Given the description of an element on the screen output the (x, y) to click on. 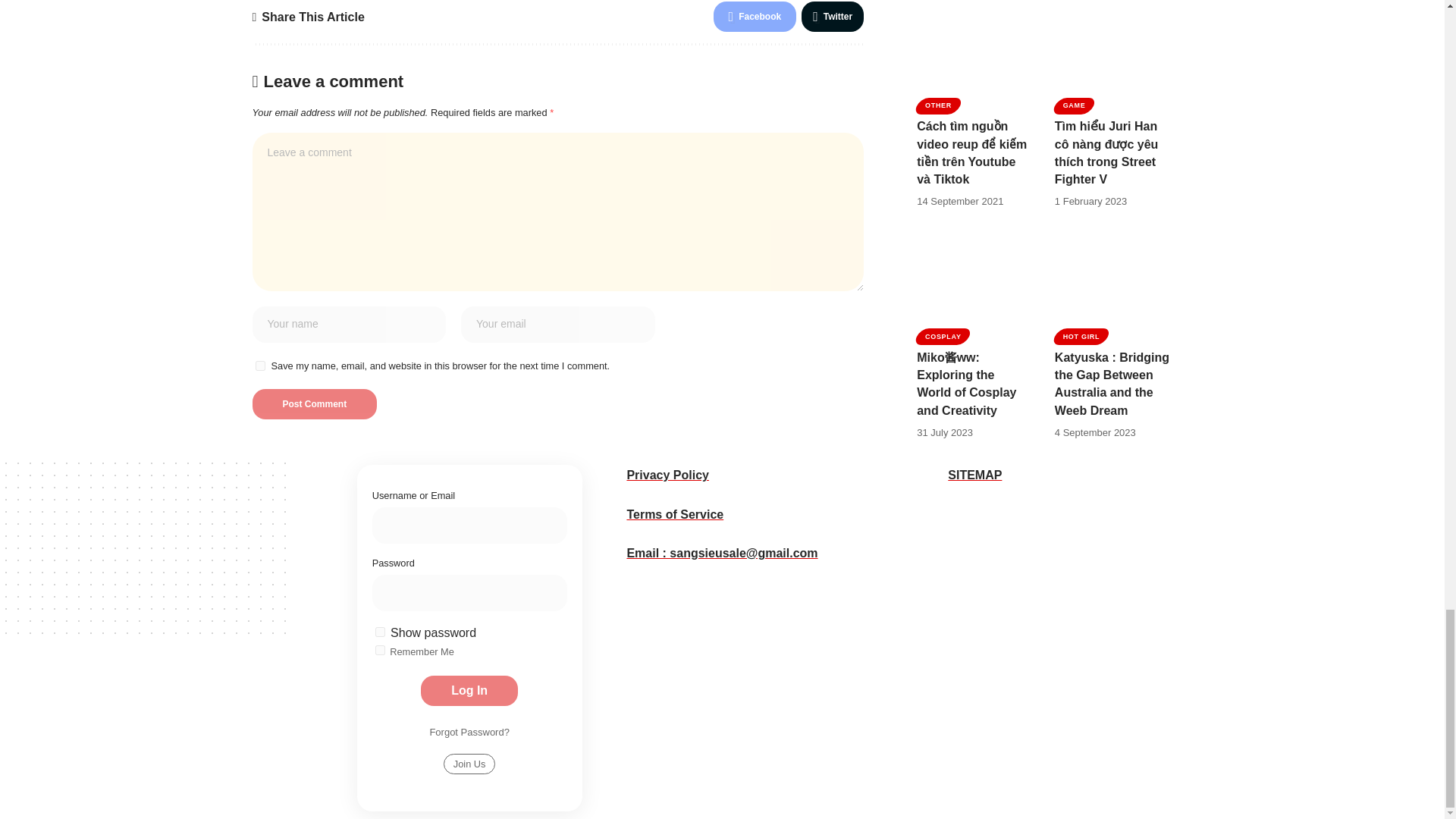
Post Comment (314, 404)
on (380, 650)
on (380, 632)
Log In (469, 690)
yes (259, 366)
